Given the description of an element on the screen output the (x, y) to click on. 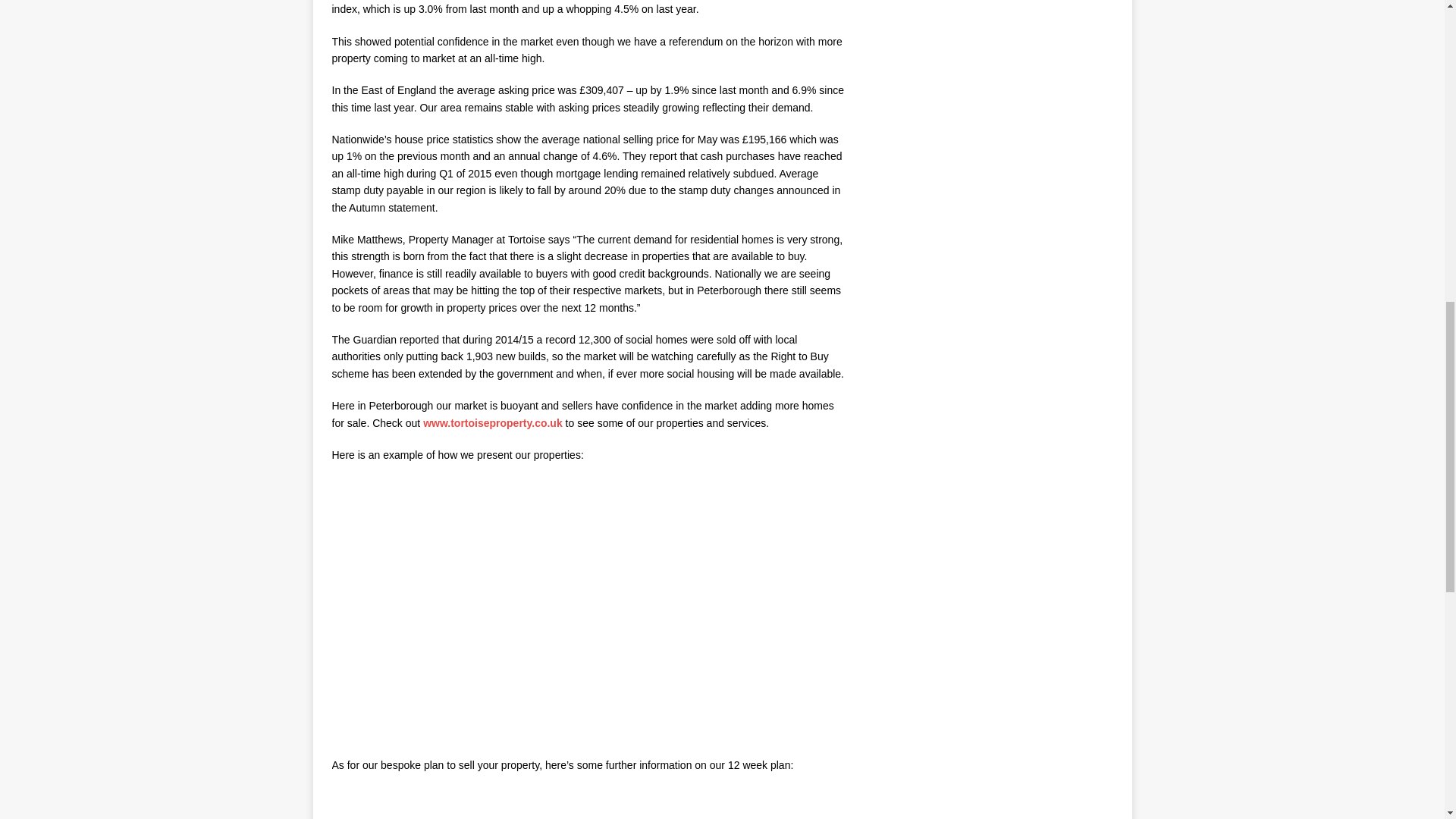
www.tortoiseproperty.co.uk (492, 422)
